Given the description of an element on the screen output the (x, y) to click on. 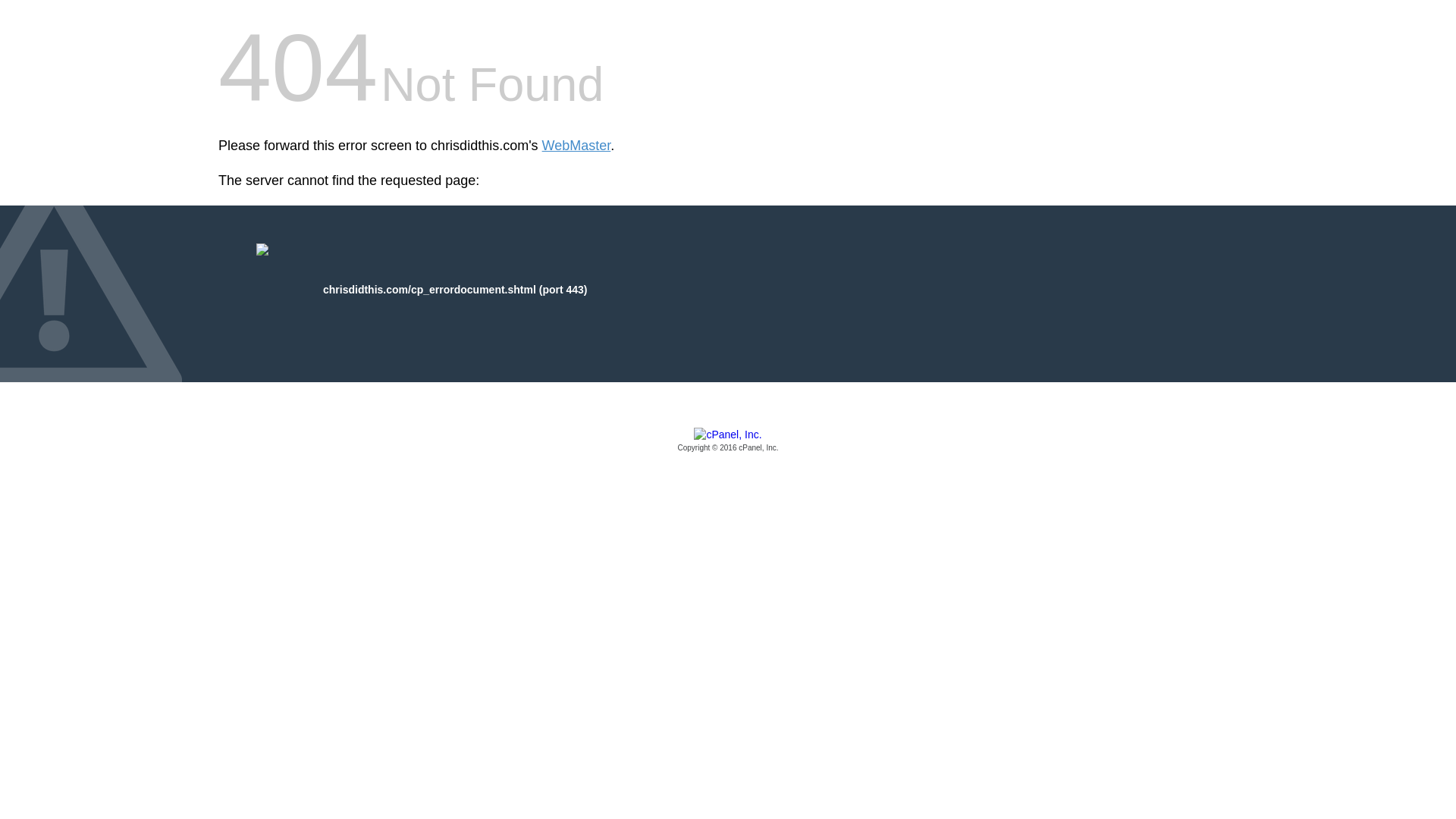
cPanel, Inc. (727, 440)
WebMaster (576, 145)
